Given the description of an element on the screen output the (x, y) to click on. 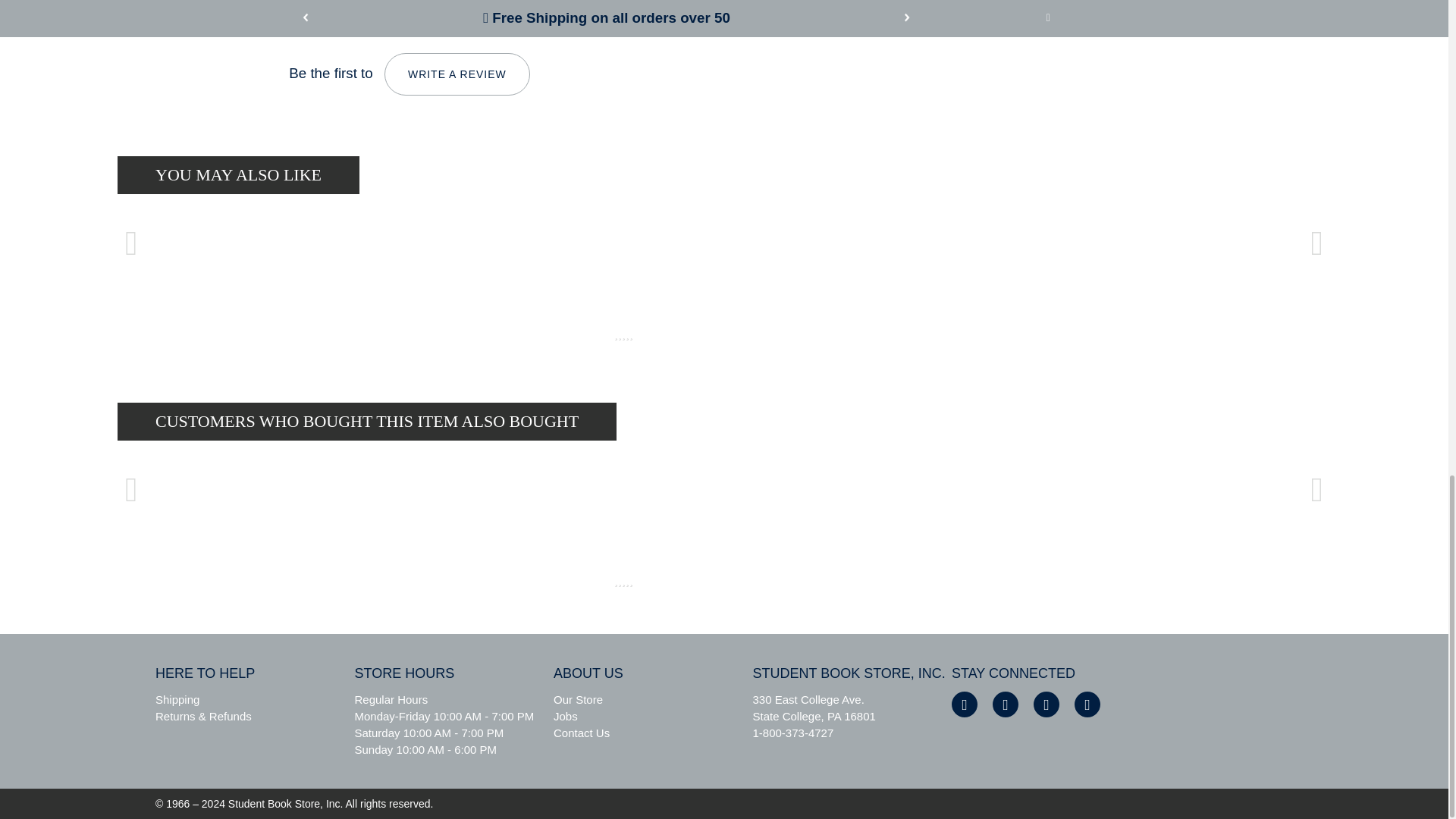
pinterest (1087, 704)
instagram (1046, 704)
twitter (1004, 704)
facebook (964, 704)
